Given the description of an element on the screen output the (x, y) to click on. 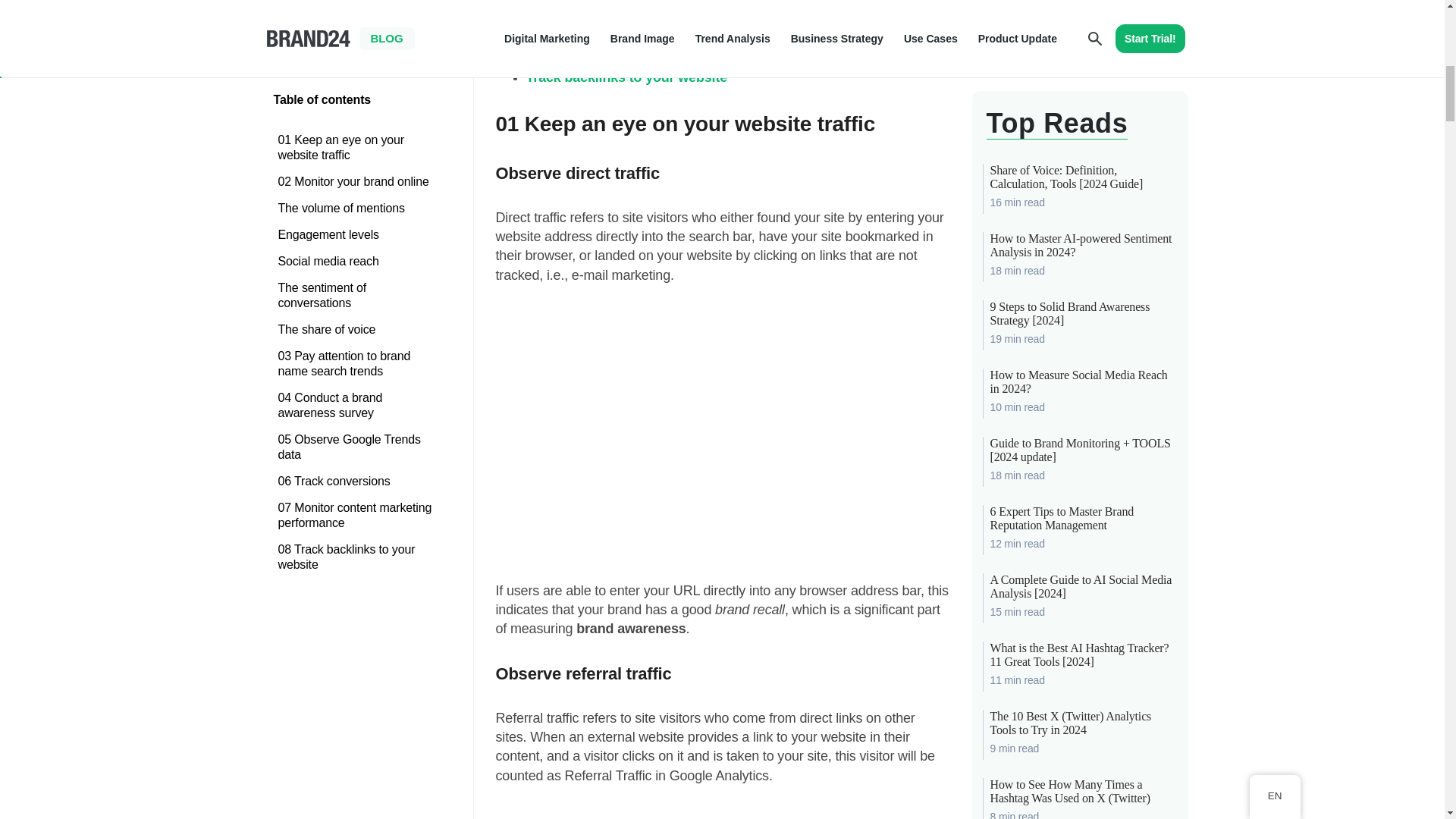
Observe Google Trends data (616, 20)
Conduct brand awareness surveys (636, 4)
Conduct brand awareness surveys (636, 4)
Track conversions (584, 38)
06 Track conversions (356, 12)
08 Track backlinks to your website (356, 87)
Monitor content marketing performance (651, 58)
Observe Google Trends data (616, 20)
07 Monitor content marketing performance (356, 46)
Track backlinks to your website (626, 77)
